Given the description of an element on the screen output the (x, y) to click on. 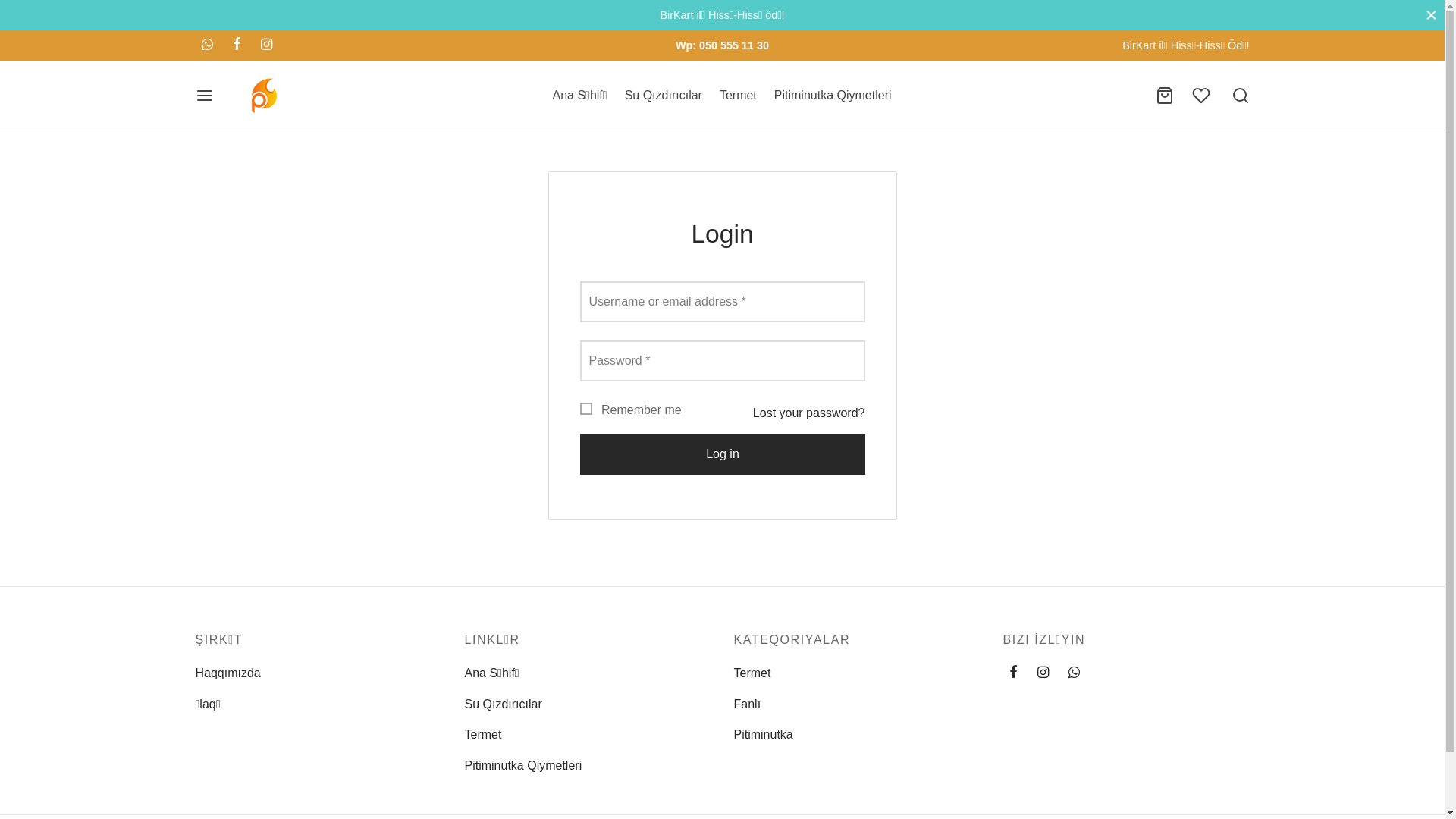
Log in Element type: text (721, 453)
instagram Element type: hover (1042, 673)
Cart Element type: hover (1164, 95)
Close Element type: hover (1431, 14)
Search Element type: text (30, 18)
Lost your password? Element type: text (809, 412)
Pitiminutka Element type: text (763, 734)
instagram Element type: hover (266, 45)
Termet Element type: text (482, 734)
Termet Element type: text (752, 673)
whatsapp Element type: hover (207, 45)
facebook Element type: hover (1012, 673)
Wp: 050 555 11 30 Element type: text (721, 45)
Termet Element type: text (737, 95)
Pitiminutka Qiymetleri Element type: text (522, 764)
whatsapp Element type: hover (1073, 673)
Pitiminutka Qiymetleri Element type: text (832, 95)
facebook Element type: hover (236, 45)
